Given the description of an element on the screen output the (x, y) to click on. 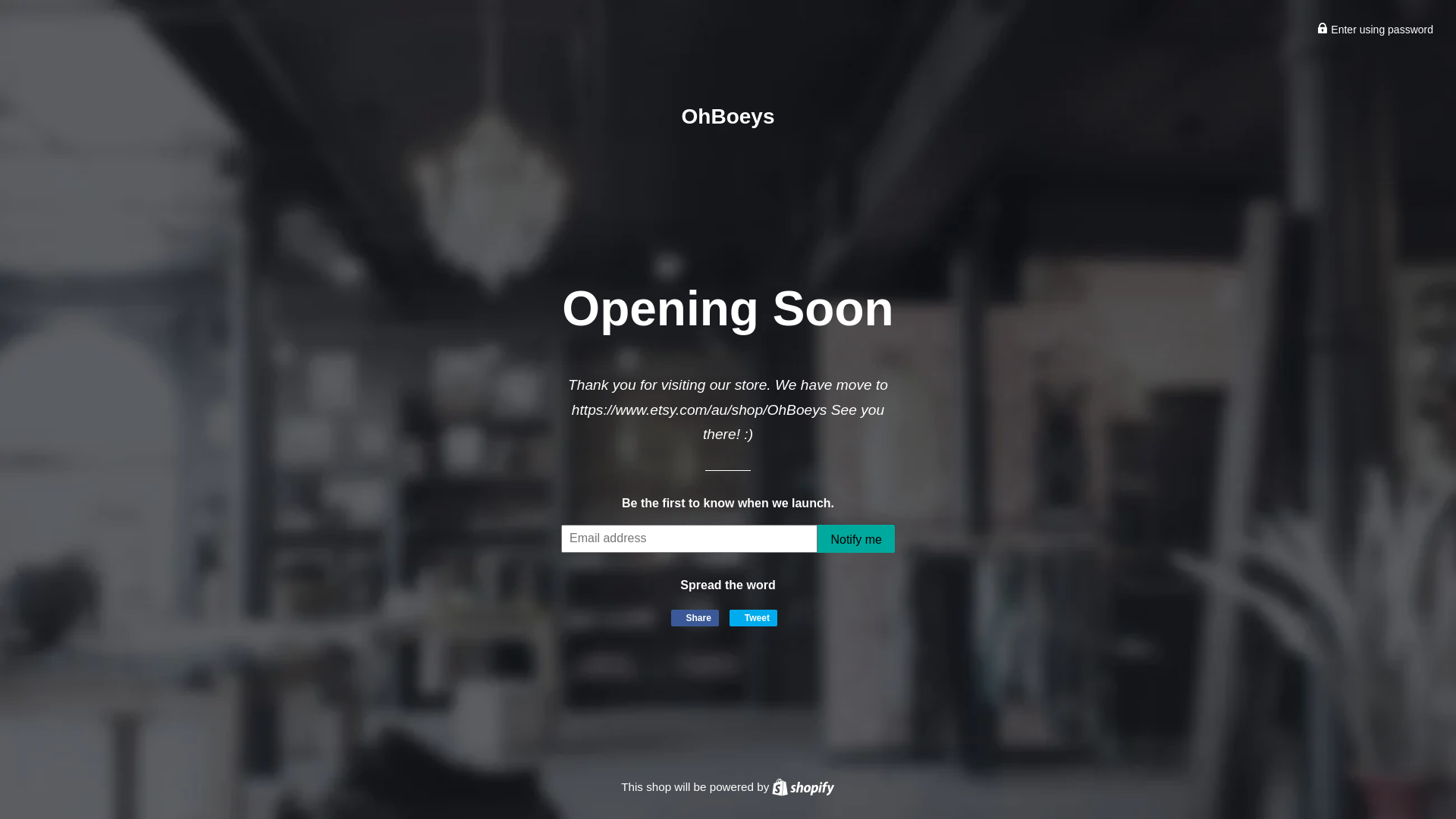
Share
Share on Facebook Element type: text (694, 617)
Notify me Element type: text (855, 538)
Lock icon Enter using password Element type: text (1375, 29)
Shopify logo
Shopify Element type: text (802, 786)
Tweet
Tweet on Twitter Element type: text (753, 617)
